Given the description of an element on the screen output the (x, y) to click on. 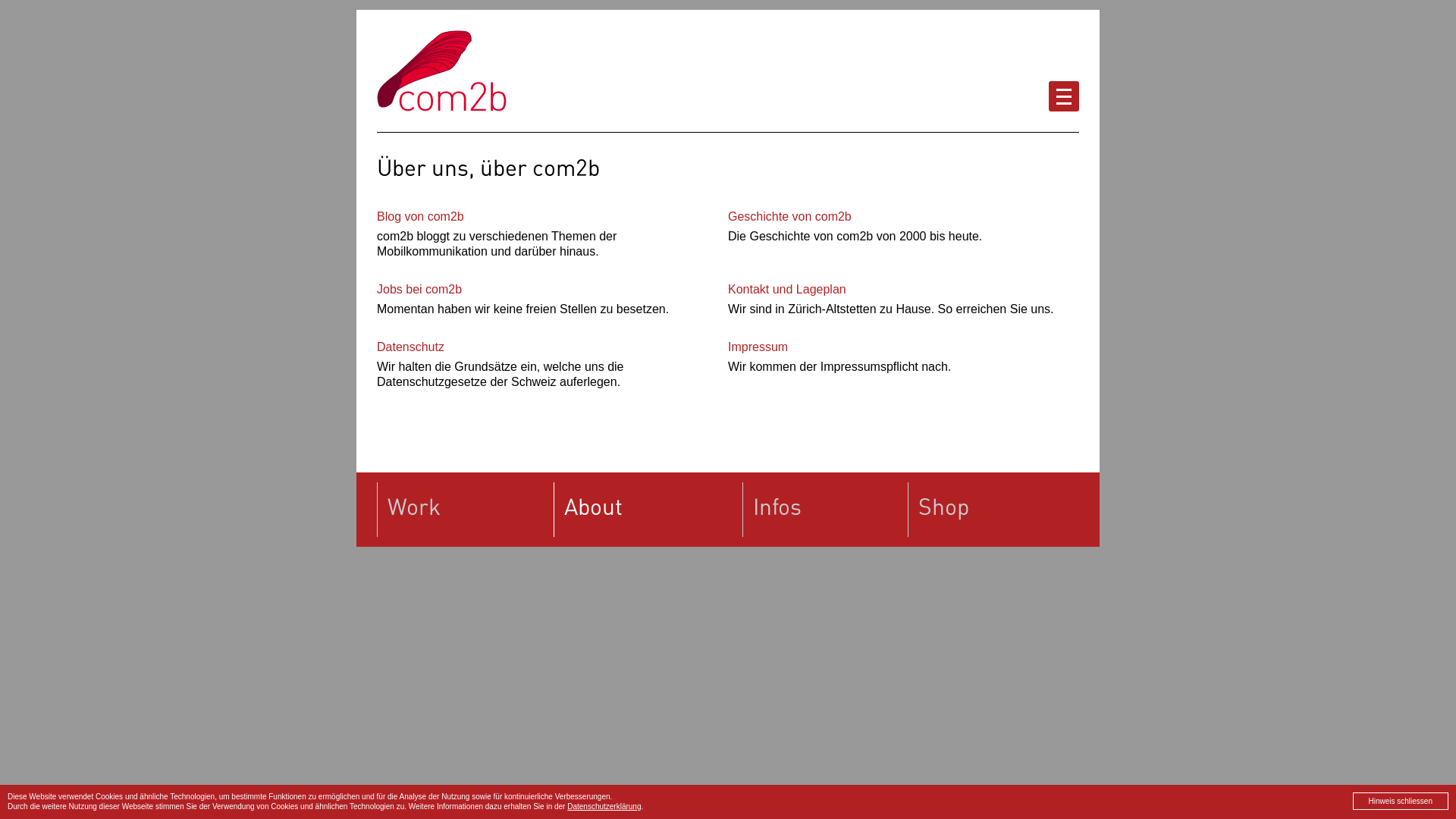
About Element type: text (647, 506)
Die Geschichte von com2b von 2000 bis heute. Element type: text (855, 235)
Infos Element type: text (825, 506)
Shop Element type: text (993, 506)
Geschichte von com2b Element type: text (789, 215)
Work Element type: text (465, 506)
Datenschutz Element type: text (410, 345)
Momentan haben wir keine freien Stellen zu besetzen. Element type: text (522, 307)
com2b.ch GmbH Element type: text (441, 70)
Blog von com2b Element type: text (420, 215)
Hinweis schliessen Element type: text (1400, 800)
Impressum Element type: text (757, 345)
Wir kommen der Impressumspflicht nach. Element type: text (839, 365)
Jobs bei com2b Element type: text (418, 288)
Kontakt und Lageplan Element type: text (787, 288)
